Given the description of an element on the screen output the (x, y) to click on. 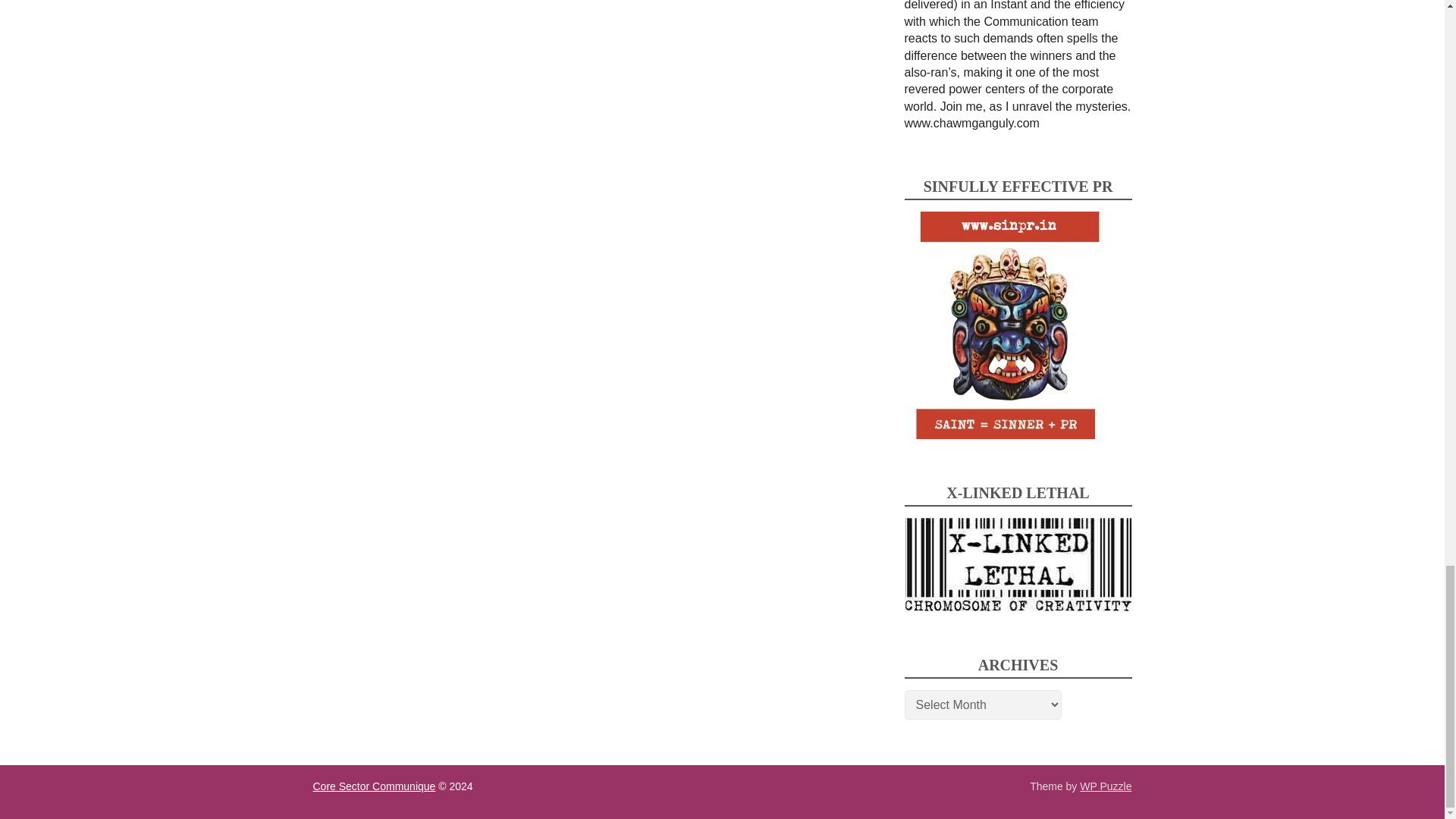
www.chawmganguly.com (971, 123)
WP Puzzle (1105, 786)
Core Sector Communique (374, 786)
